Given the description of an element on the screen output the (x, y) to click on. 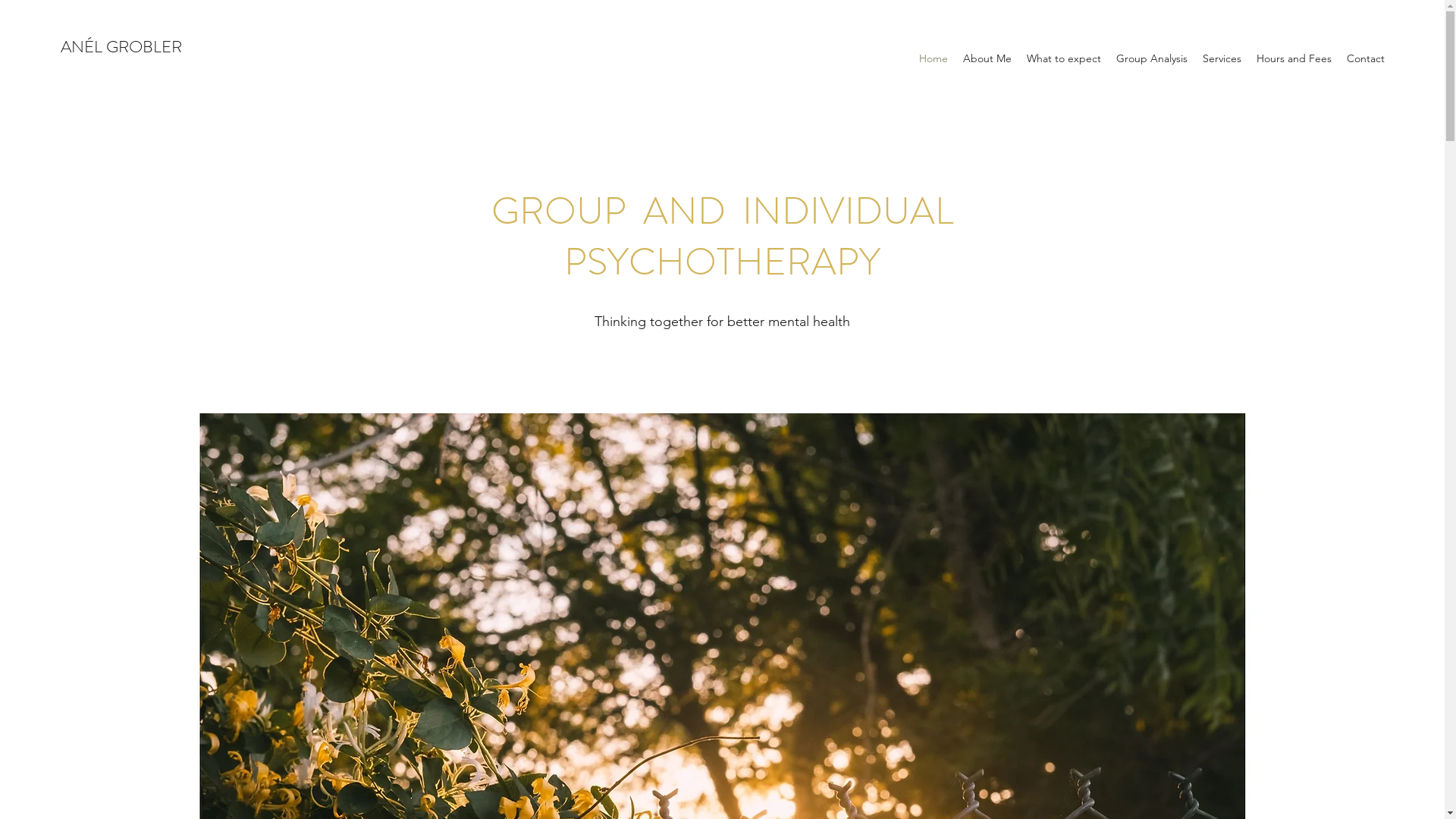
Services Element type: text (1221, 58)
Contact Element type: text (1365, 58)
What to expect Element type: text (1063, 58)
About Me Element type: text (987, 58)
Home Element type: text (933, 58)
Cookie Alert Element type: hover (746, 95)
Group Analysis Element type: text (1151, 58)
Hours and Fees Element type: text (1293, 58)
